Given the description of an element on the screen output the (x, y) to click on. 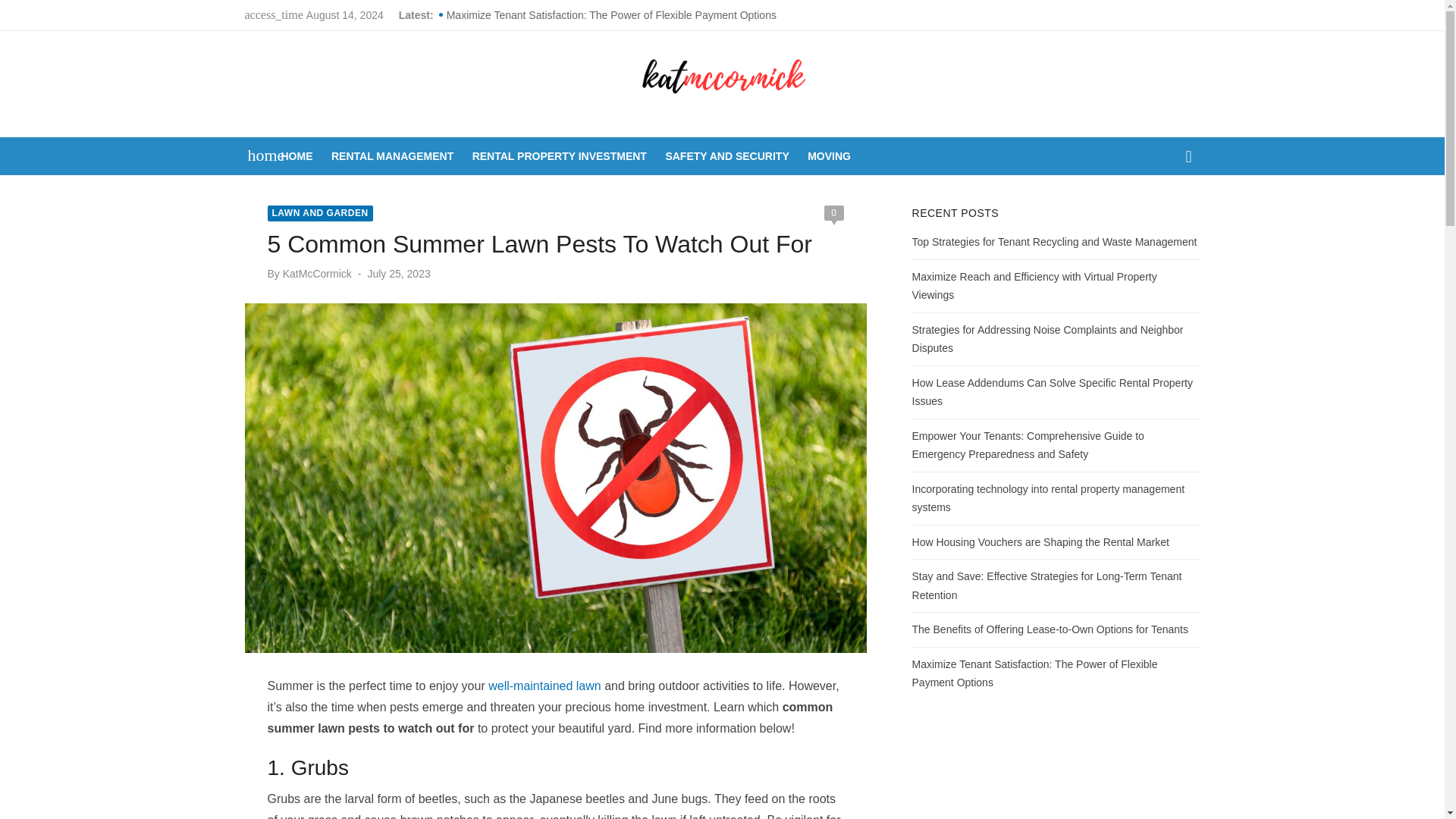
home (258, 154)
RENTAL MANAGEMENT (393, 156)
MOVING (829, 156)
LAWN AND GARDEN (319, 213)
KatMcCormick (317, 273)
HOME (296, 156)
SAFETY AND SECURITY (727, 156)
well-maintained lawn (544, 685)
0 (833, 212)
